Given the description of an element on the screen output the (x, y) to click on. 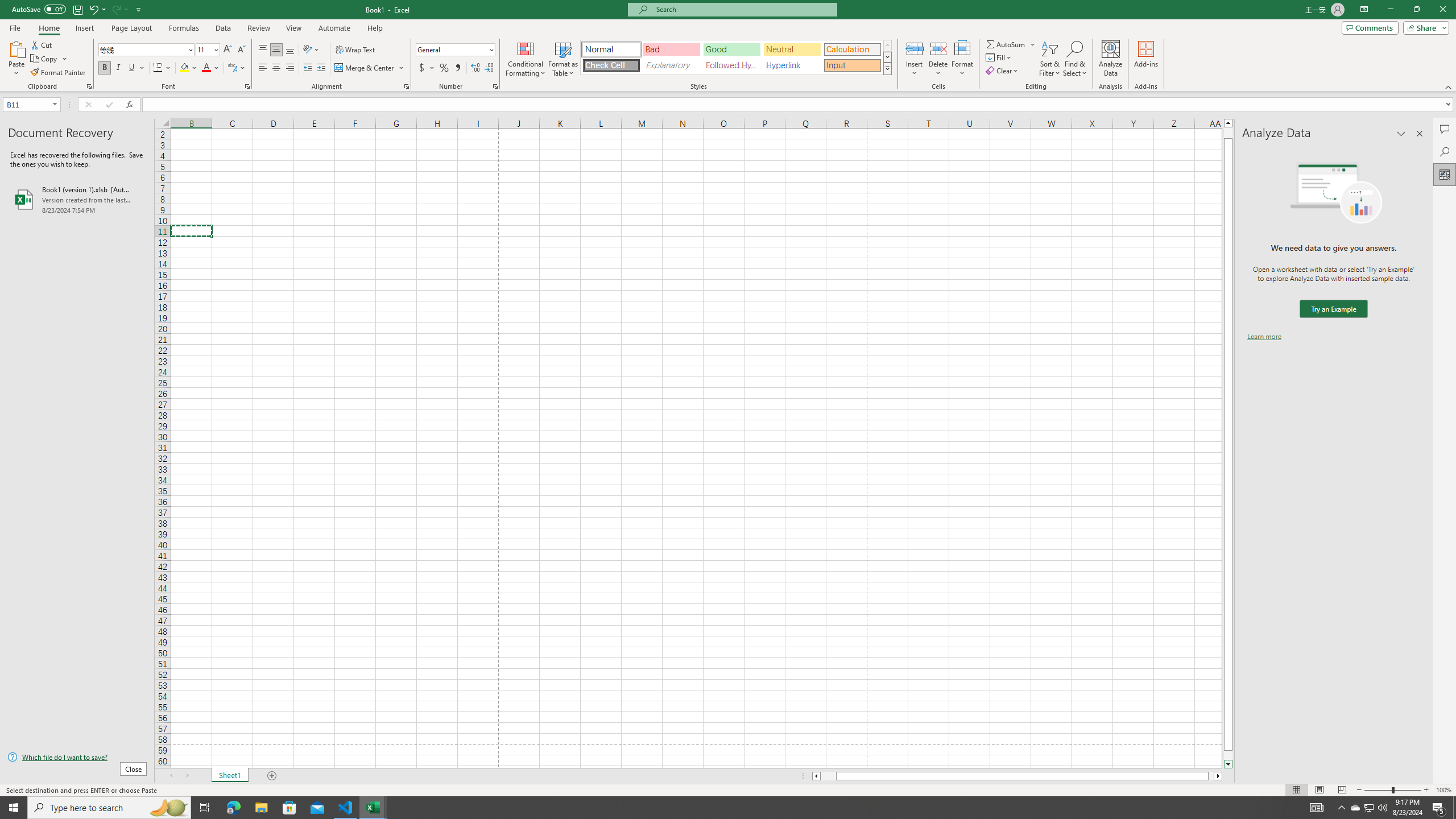
Input (852, 65)
Followed Hyperlink (731, 65)
Paste (16, 58)
Bad (671, 49)
